Given the description of an element on the screen output the (x, y) to click on. 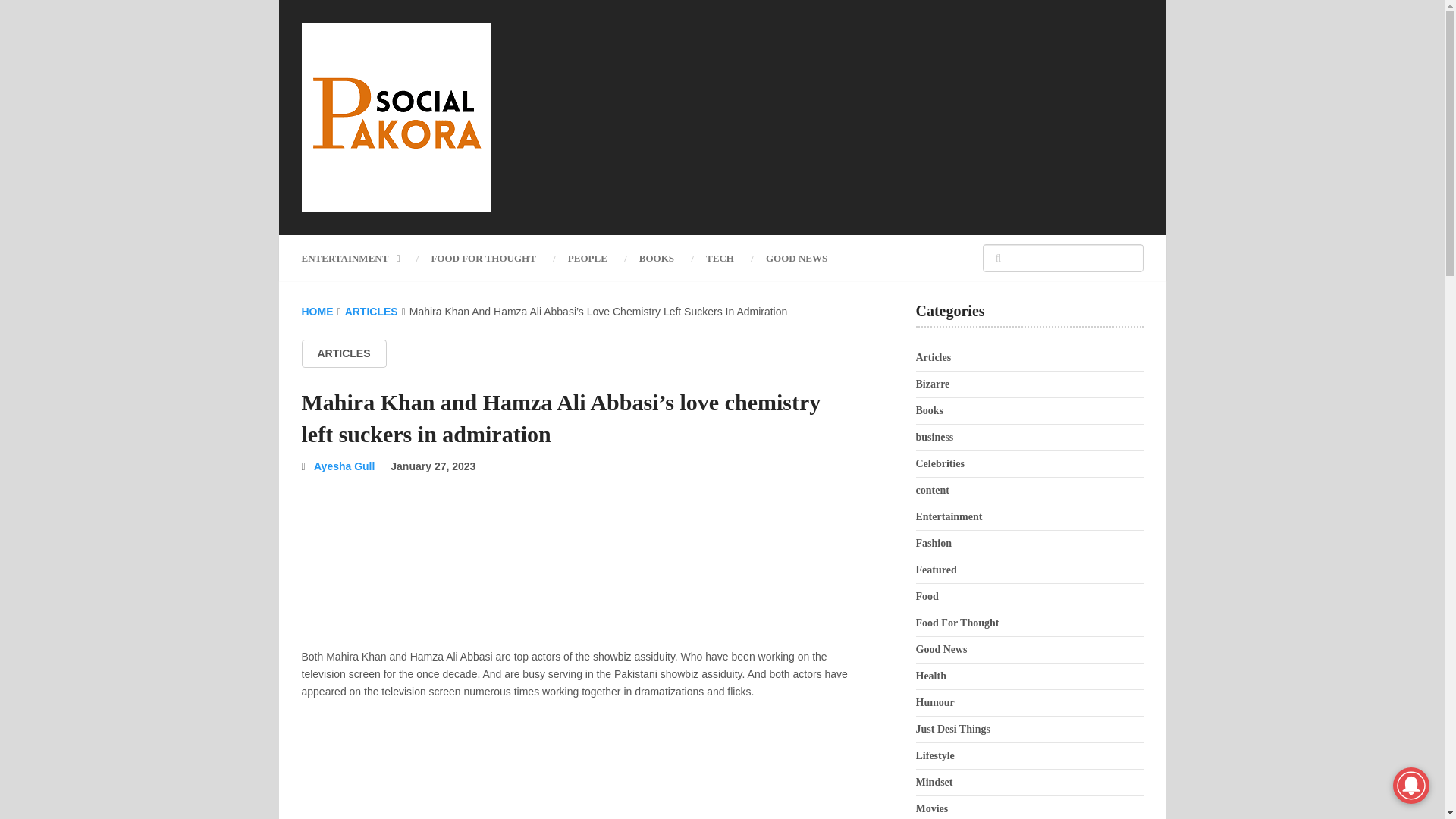
Bizarre (932, 383)
Advertisement (578, 767)
FOOD FOR THOUGHT (482, 257)
ARTICLES (344, 353)
Posts by Ayesha Gull (344, 466)
Advertisement (866, 117)
TECH (719, 257)
content (932, 490)
Fashion (933, 542)
BOOKS (656, 257)
Entertainment (948, 516)
ENTERTAINMENT (357, 257)
Advertisement (578, 563)
PEOPLE (587, 257)
ARTICLES (371, 311)
